Given the description of an element on the screen output the (x, y) to click on. 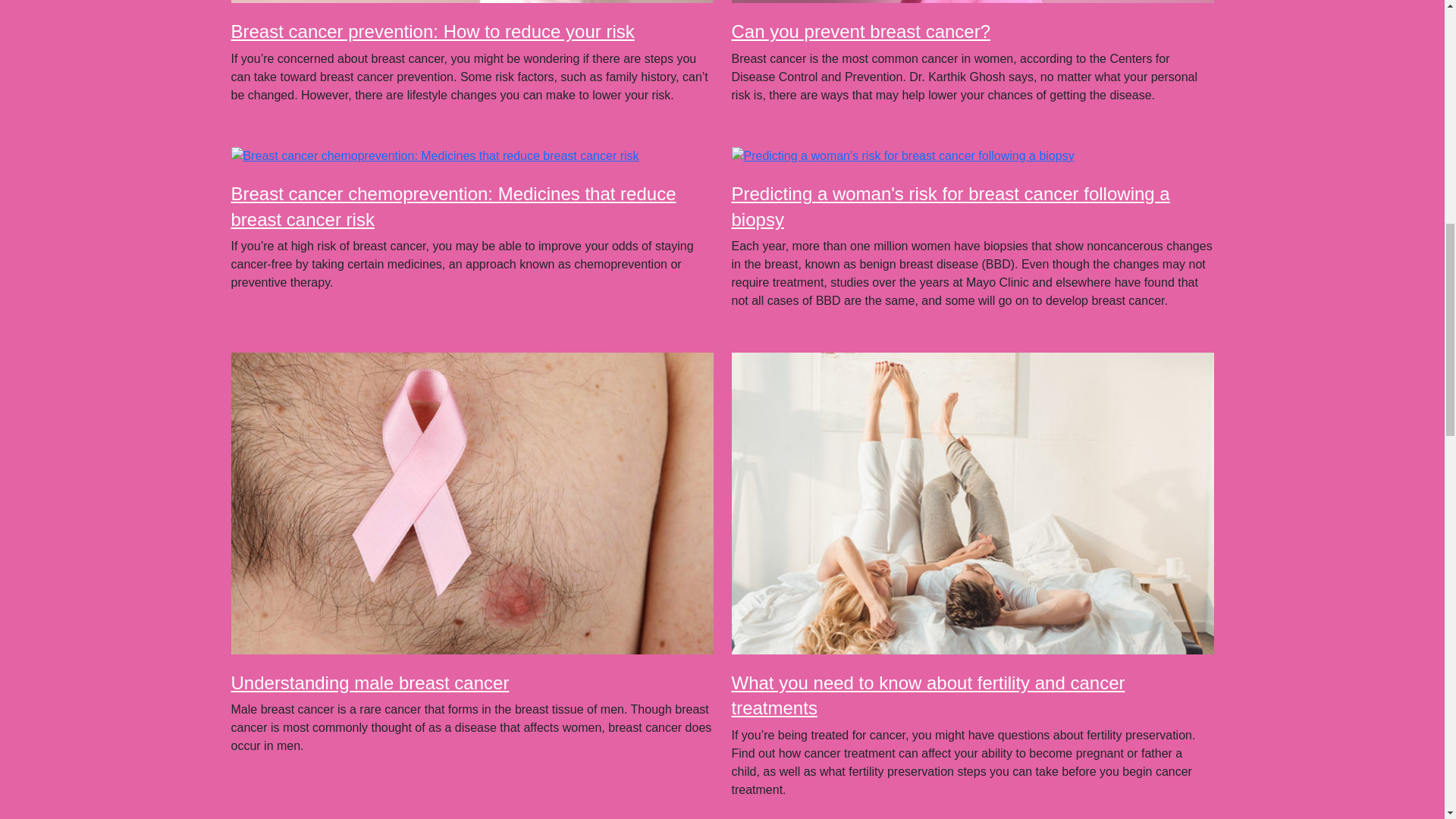
What you need to know about fertility and cancer treatments (927, 695)
Can you prevent breast cancer? (860, 31)
Understanding male breast cancer (369, 682)
Breast cancer prevention: How to reduce your risk (431, 31)
